Given the description of an element on the screen output the (x, y) to click on. 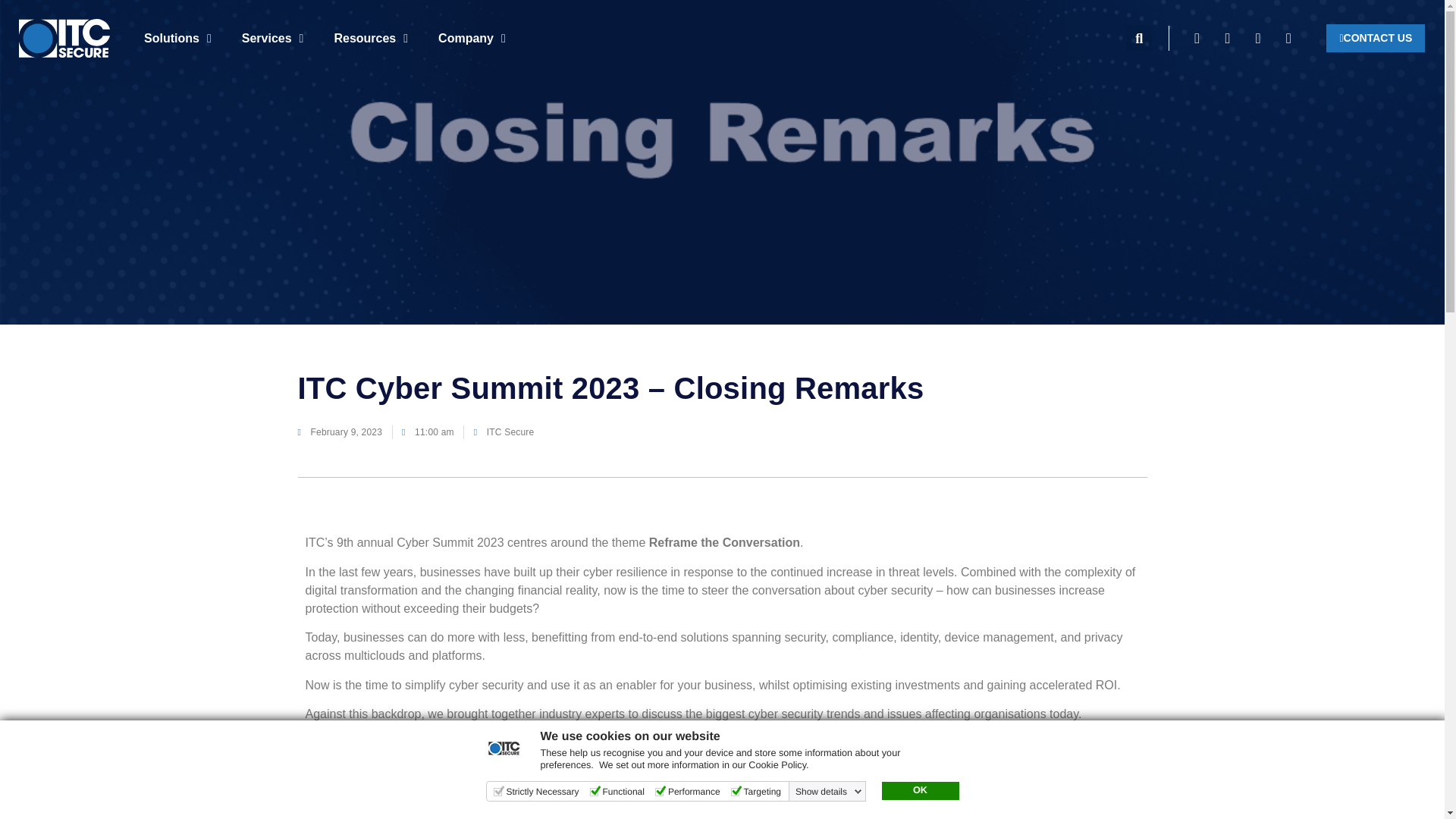
OK (919, 791)
Show details (828, 791)
